Given the description of an element on the screen output the (x, y) to click on. 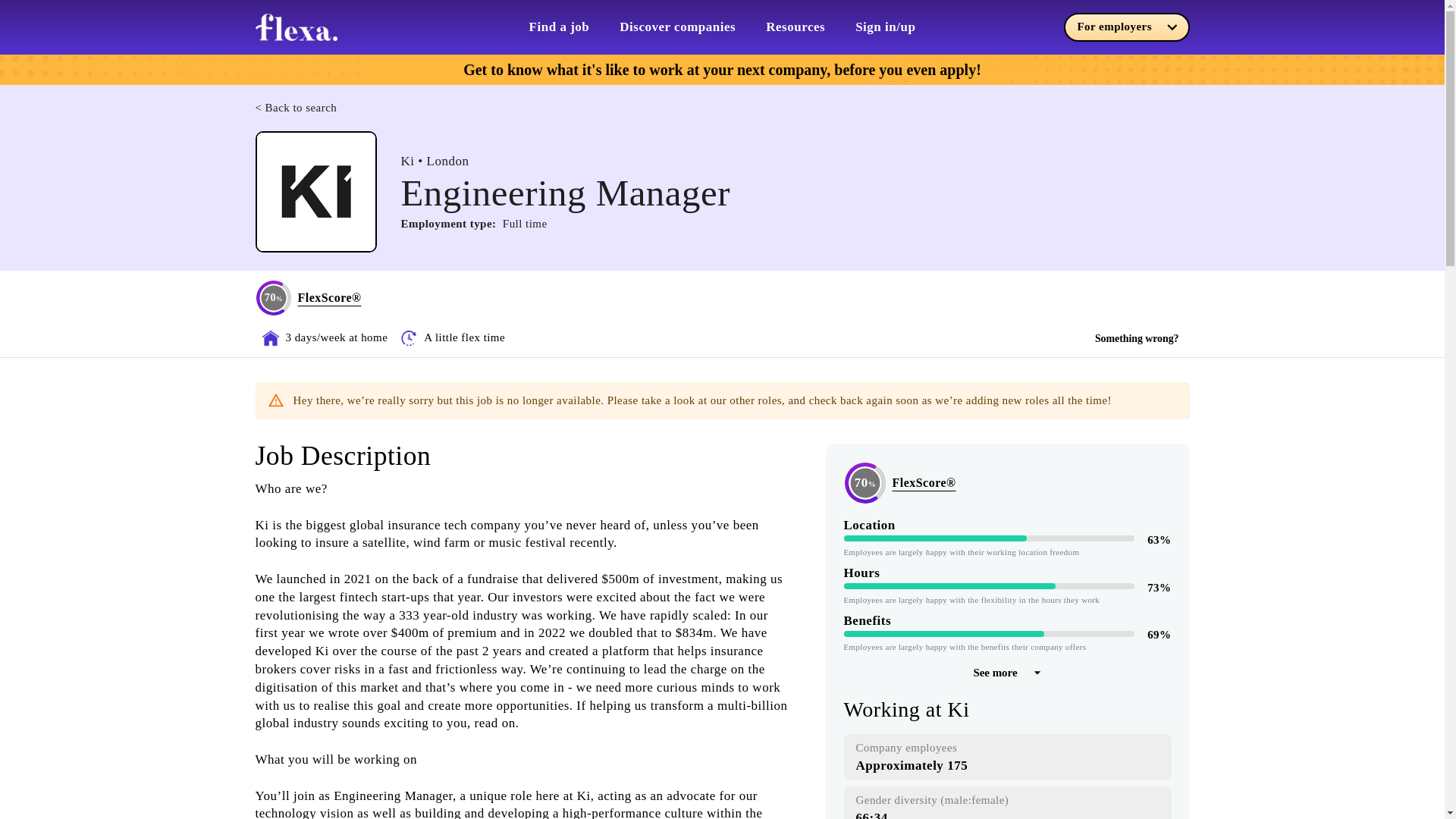
Resources (795, 27)
Something wrong? (1136, 339)
Discover companies (677, 27)
Find a job (559, 27)
For employers (1125, 27)
See more (1006, 672)
